Given the description of an element on the screen output the (x, y) to click on. 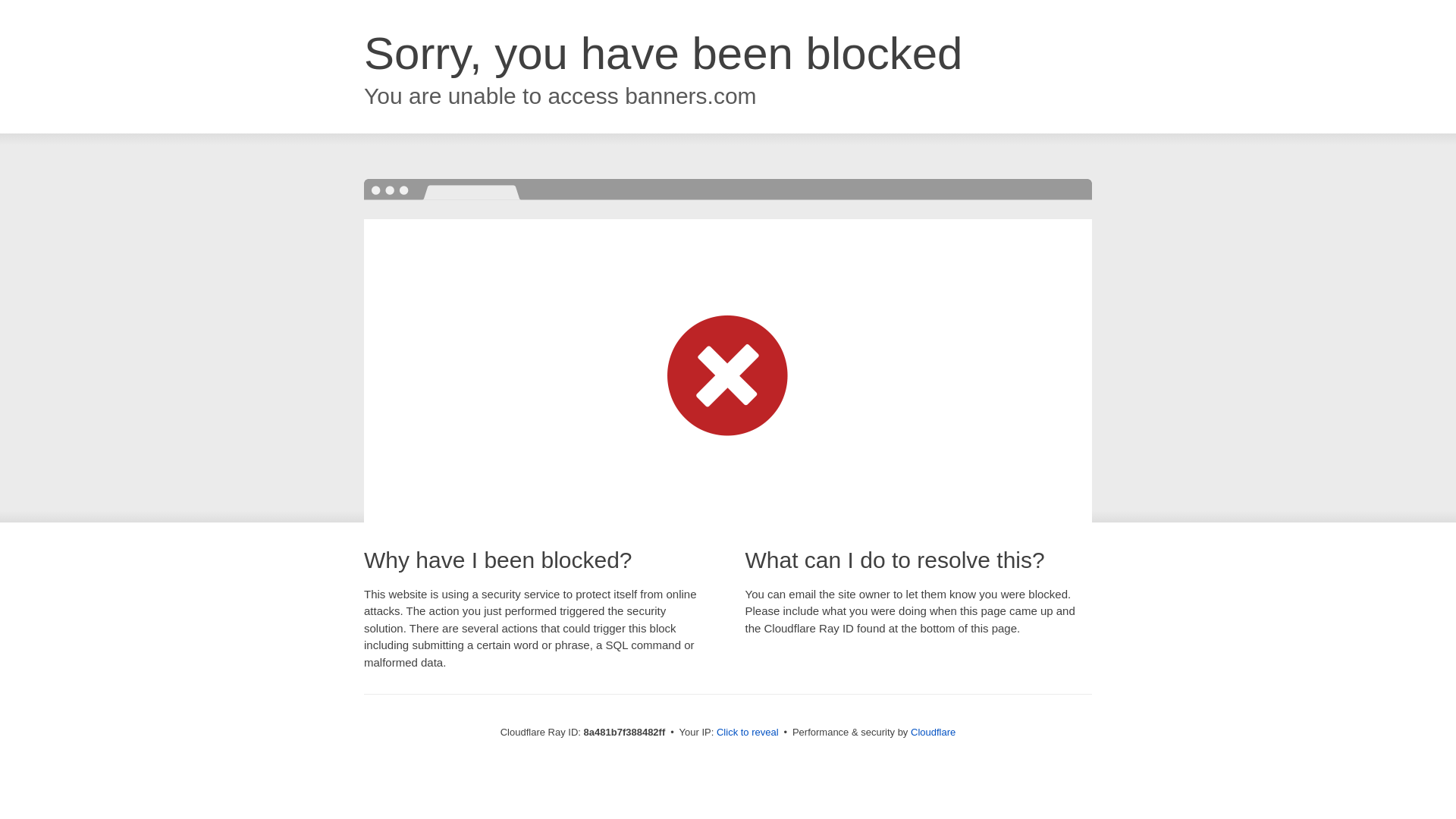
Click to reveal (747, 732)
Cloudflare (933, 731)
